Given the description of an element on the screen output the (x, y) to click on. 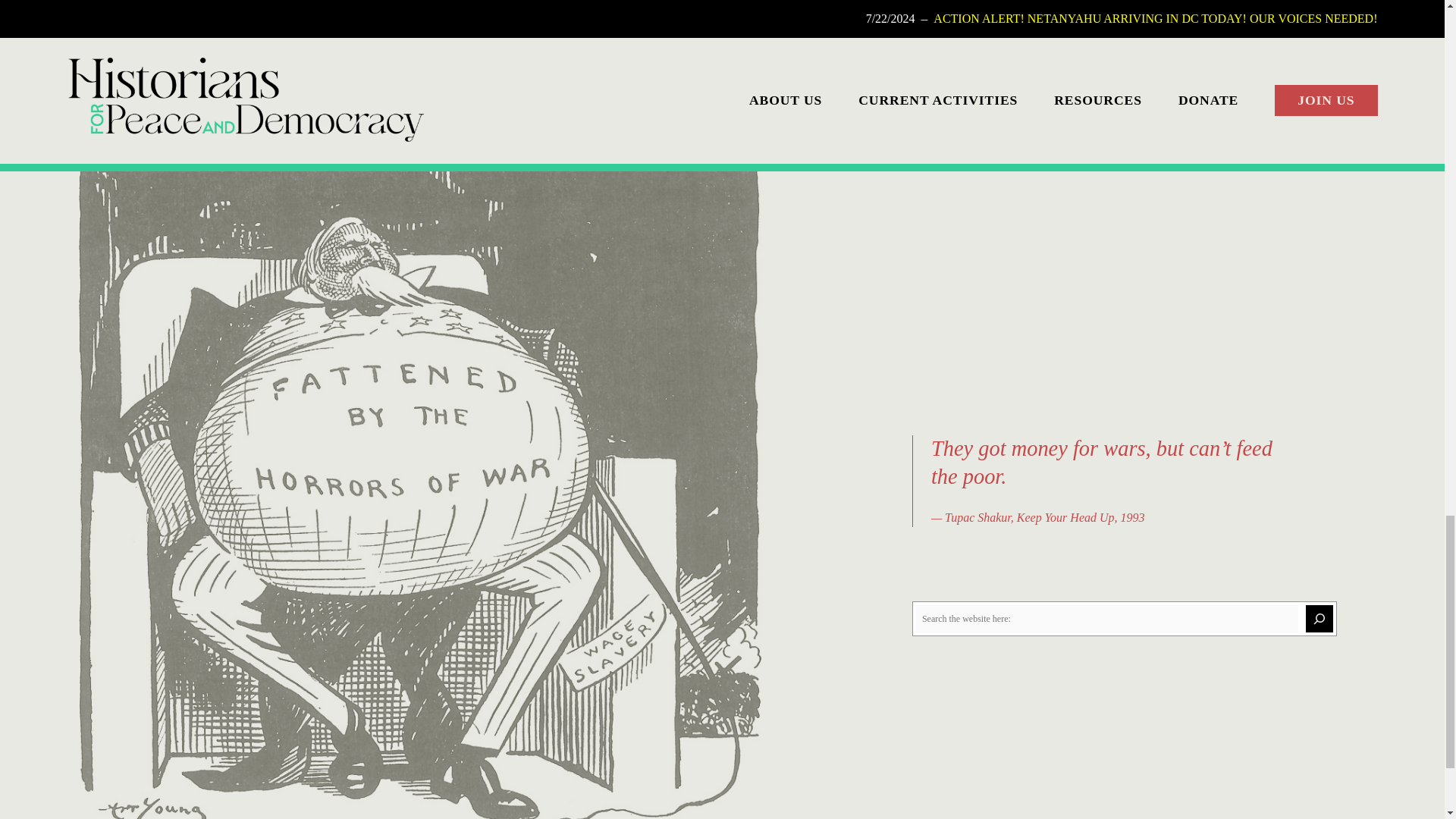
Mail (157, 19)
Privacy Policy (102, 55)
YouTube (129, 19)
CONTACT US (831, 14)
Instagram (103, 19)
PointPolish (1349, 110)
Facebook (75, 19)
